Given the description of an element on the screen output the (x, y) to click on. 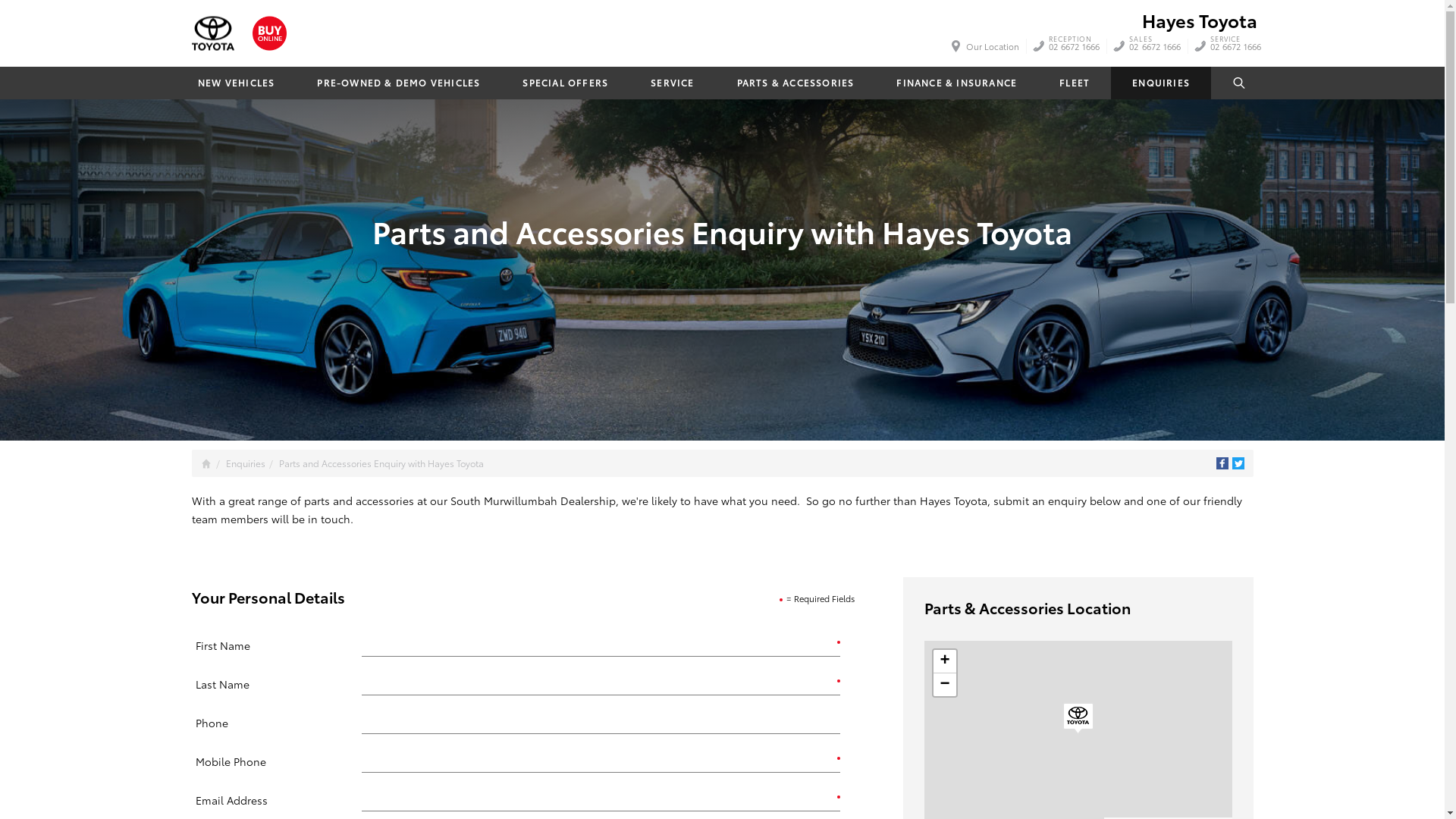
SERVICE Element type: text (672, 82)
FINANCE & INSURANCE Element type: text (956, 82)
Hayes Toyota Element type: text (1199, 20)
Buy Online Element type: hover (268, 33)
Home Element type: text (205, 463)
NEW VEHICLES Element type: text (234, 82)
RECEPTION
02 6672 1666 Element type: text (1074, 45)
ENQUIRIES Element type: text (1160, 82)
FLEET Element type: text (1074, 82)
Parts and Accessories Enquiry with Hayes Toyota Element type: text (381, 462)
SERVICE
02 6672 1666 Element type: text (1235, 45)
PARTS & ACCESSORIES Element type: text (795, 82)
PRE-OWNED & DEMO VEHICLES Element type: text (398, 82)
Twitter Element type: hover (1237, 463)
Our Location Element type: text (986, 45)
Hayes Toyota Element type: hover (212, 33)
SALES
02 6672 1666 Element type: text (1154, 45)
SPECIAL OFFERS Element type: text (565, 82)
Facebook Element type: hover (1222, 463)
SEARCH Element type: text (1239, 82)
+ Element type: text (943, 661)
Enquiries Element type: text (245, 462)
